Given the description of an element on the screen output the (x, y) to click on. 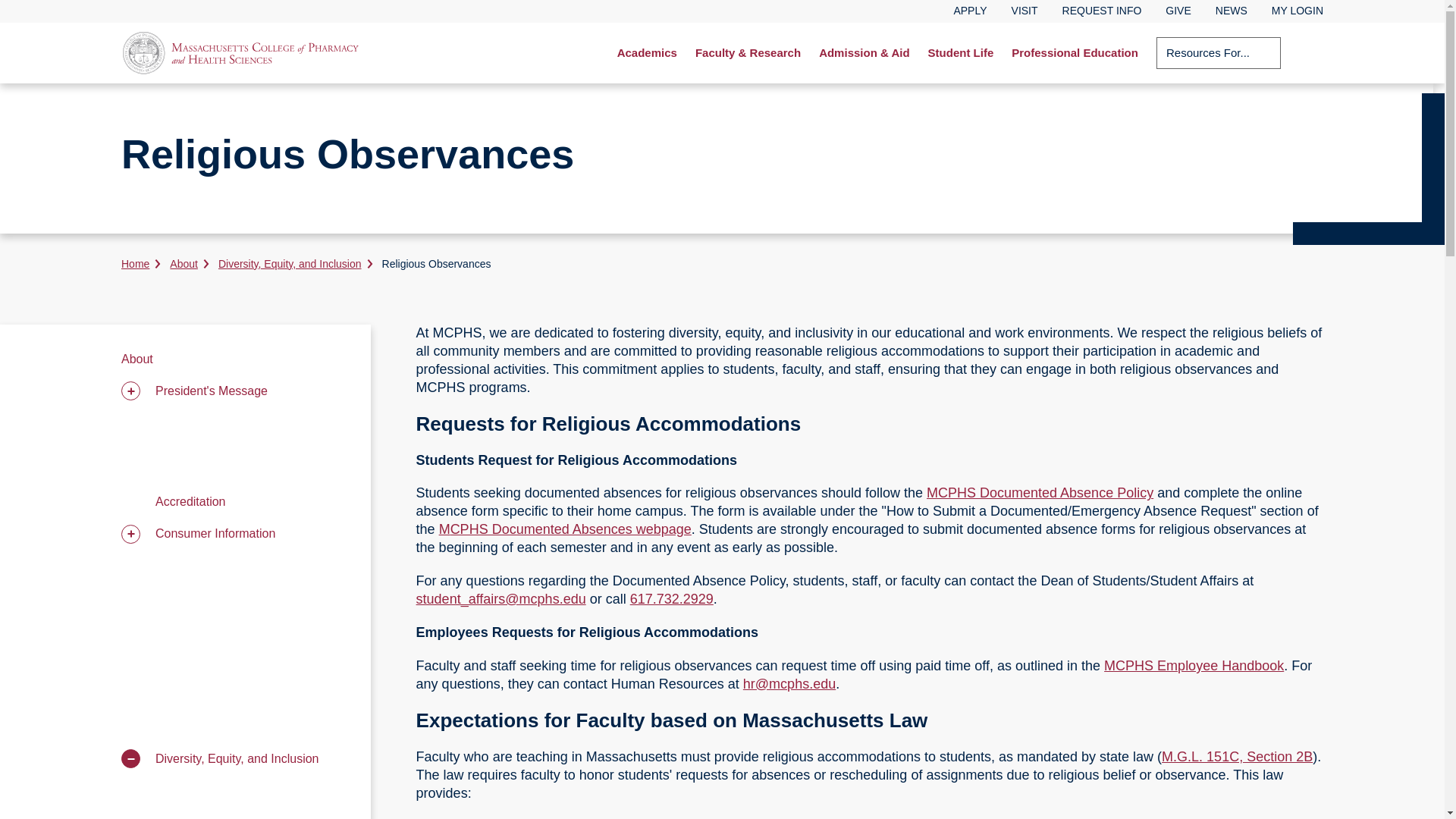
GIVE (1178, 11)
Resources For... (1218, 52)
APPLY (970, 11)
MY LOGIN (1297, 11)
Academics (646, 52)
REQUEST INFO (1101, 11)
Professional Education (1075, 52)
Student Life (960, 52)
NEWS (1231, 11)
VISIT (1024, 11)
